Given the description of an element on the screen output the (x, y) to click on. 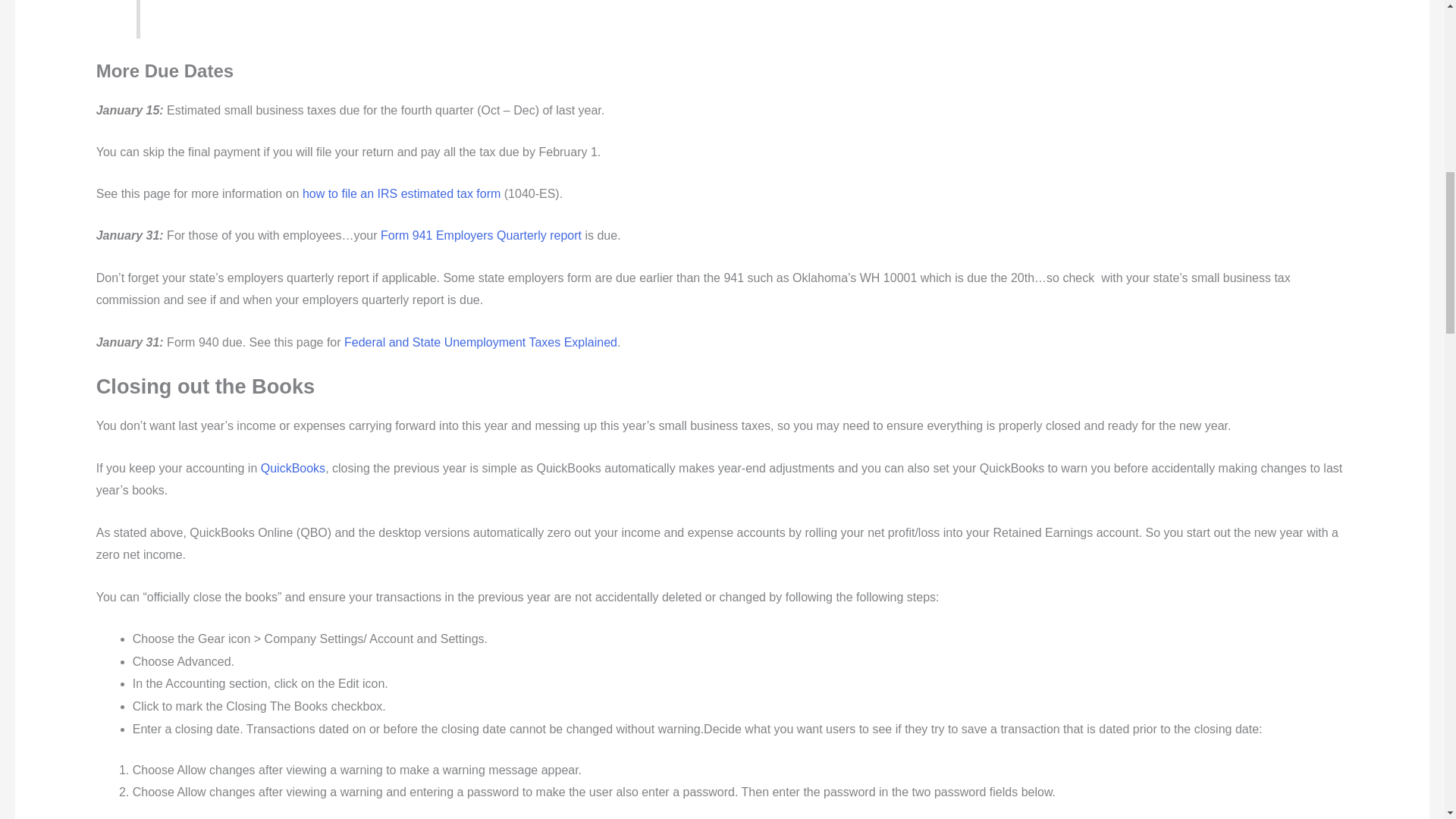
QuickBooks (292, 468)
Form 941 Employers Quarterly report (480, 235)
Federal and State Unemployment Taxes Explained (480, 341)
file an IRS estimated tax form (418, 193)
how to (319, 193)
